Given the description of an element on the screen output the (x, y) to click on. 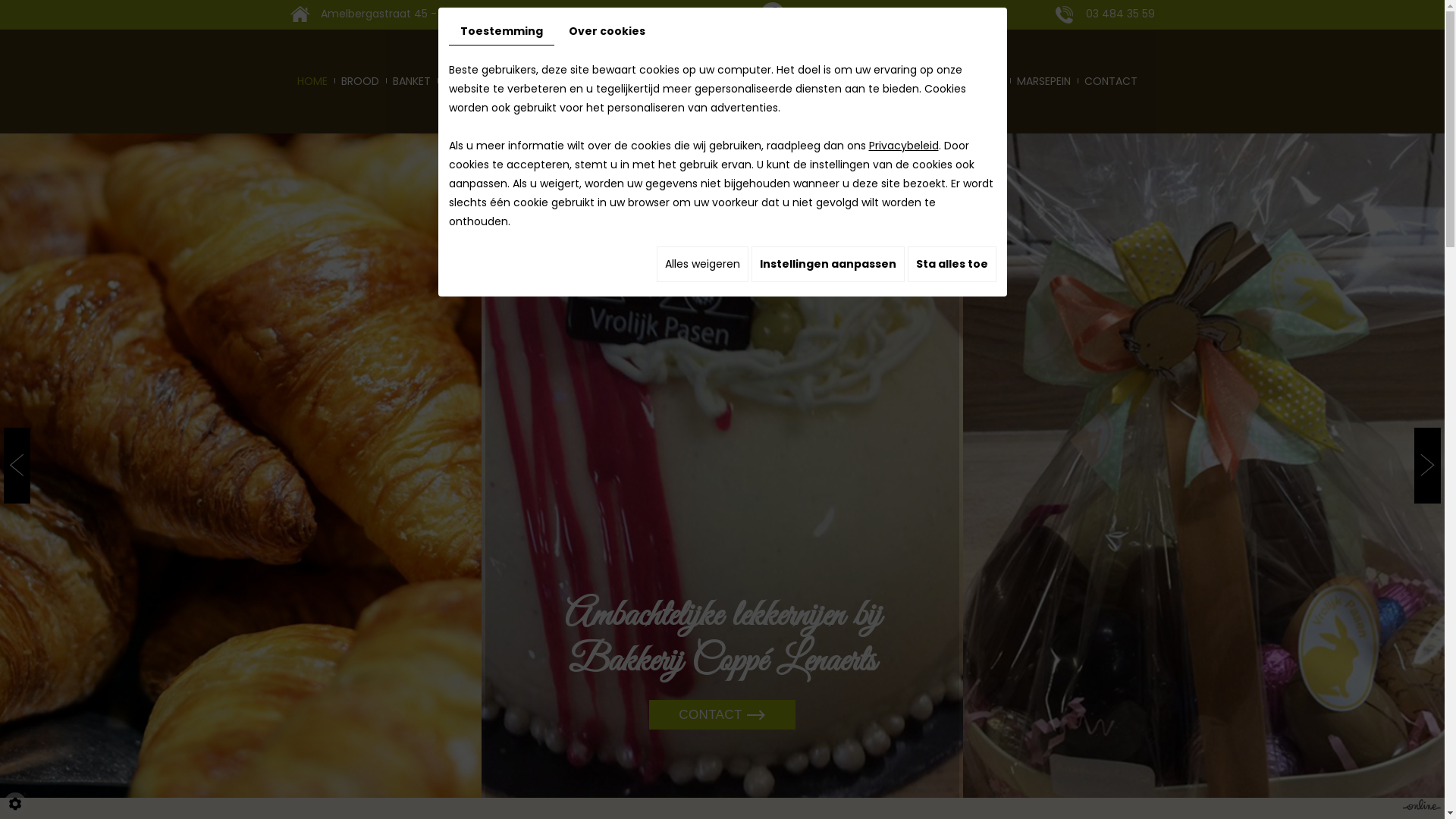
MARSEPEIN Element type: text (1043, 81)
Alles weigeren Element type: text (702, 264)
  Element type: hover (240, 465)
  Element type: hover (1203, 465)
WEBSHOP Element type: text (568, 81)
CHOCOLADE Element type: text (970, 81)
THEMATAARTEN Element type: text (883, 81)
BANKET Element type: text (410, 81)
Sta alles toe Element type: text (950, 264)
CONTACT Element type: text (1110, 81)
Toestemming Element type: text (501, 31)
Cookie-instelling bewerken Element type: text (14, 803)
CONTACT Element type: text (721, 714)
HOME Element type: text (311, 81)
Facebook Element type: hover (772, 14)
ONTBIJTMANDEN Element type: text (486, 81)
Over cookies Element type: text (605, 31)
Instellingen aanpassen Element type: text (826, 264)
Privacybeleid Element type: text (903, 145)
BROOD Element type: text (359, 81)
  Element type: hover (722, 465)
